Given the description of an element on the screen output the (x, y) to click on. 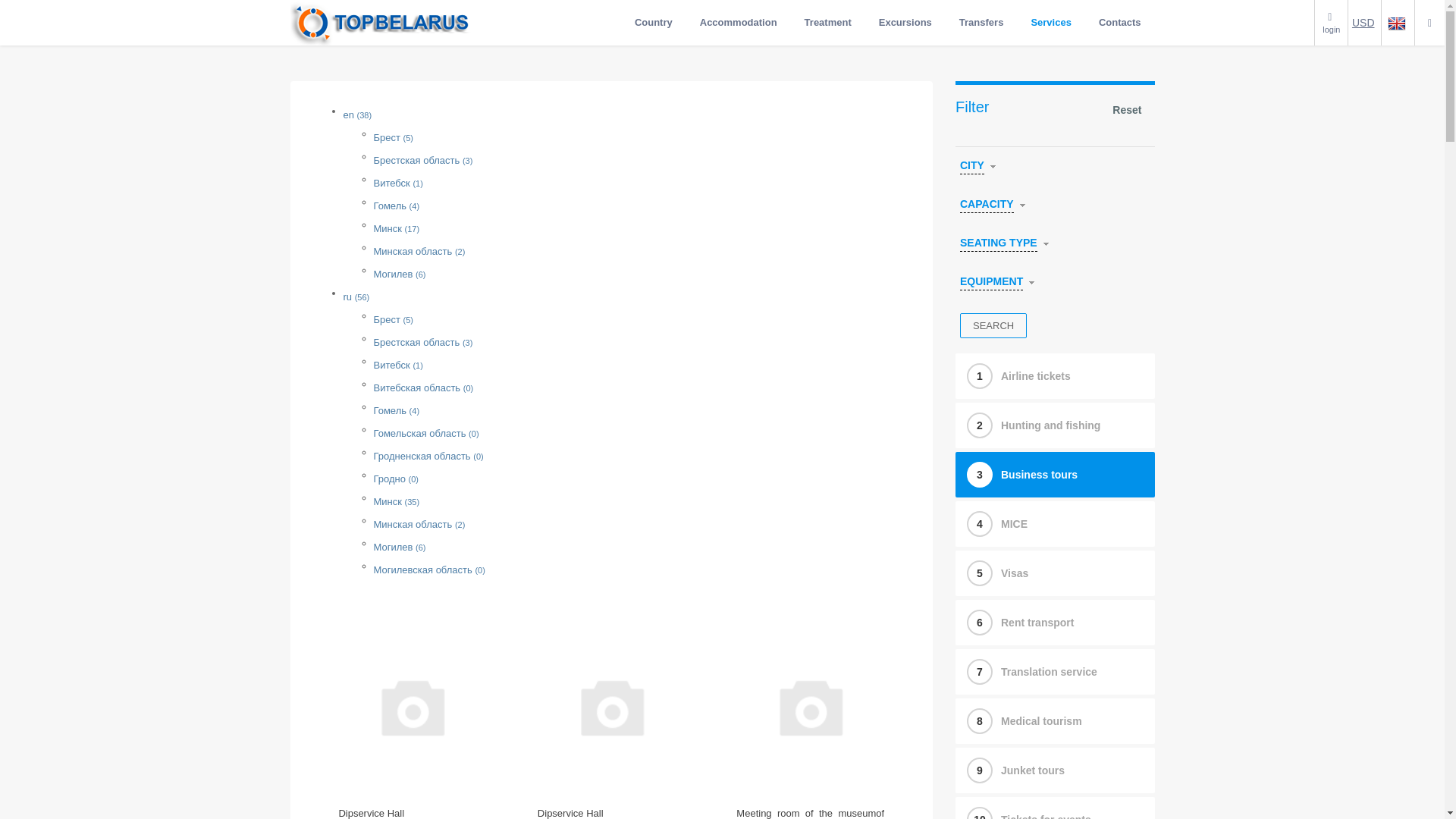
Transfers (981, 22)
Accommodation (738, 22)
Excursions (905, 22)
Reset (1126, 110)
Dipservice Hall (370, 813)
Dipservice Hall (570, 813)
Search (992, 325)
Treatment (828, 22)
login (1331, 22)
Reset (1126, 110)
